Given the description of an element on the screen output the (x, y) to click on. 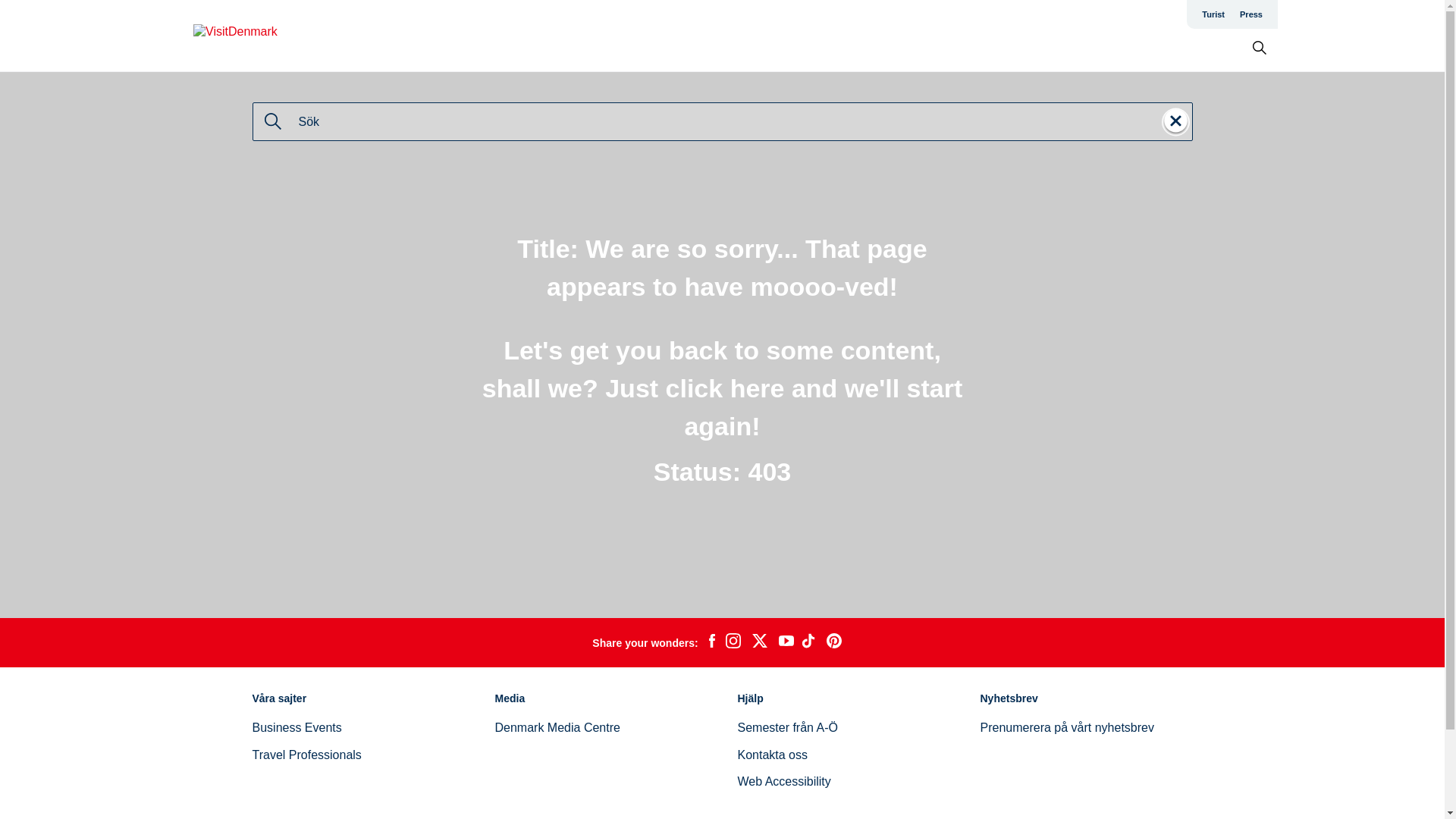
Kontakta oss (772, 754)
Web Accessibility (782, 780)
Denmark Media Centre (557, 727)
Kontakta oss (772, 754)
Web Accessibility (782, 780)
instagram (732, 642)
Denmark Media Centre (557, 727)
Travel Professionals (306, 754)
Business Events (295, 727)
Press (1250, 14)
here (757, 387)
Travel Professionals (306, 754)
facebook (711, 642)
Turist (1212, 14)
twitter (759, 642)
